Given the description of an element on the screen output the (x, y) to click on. 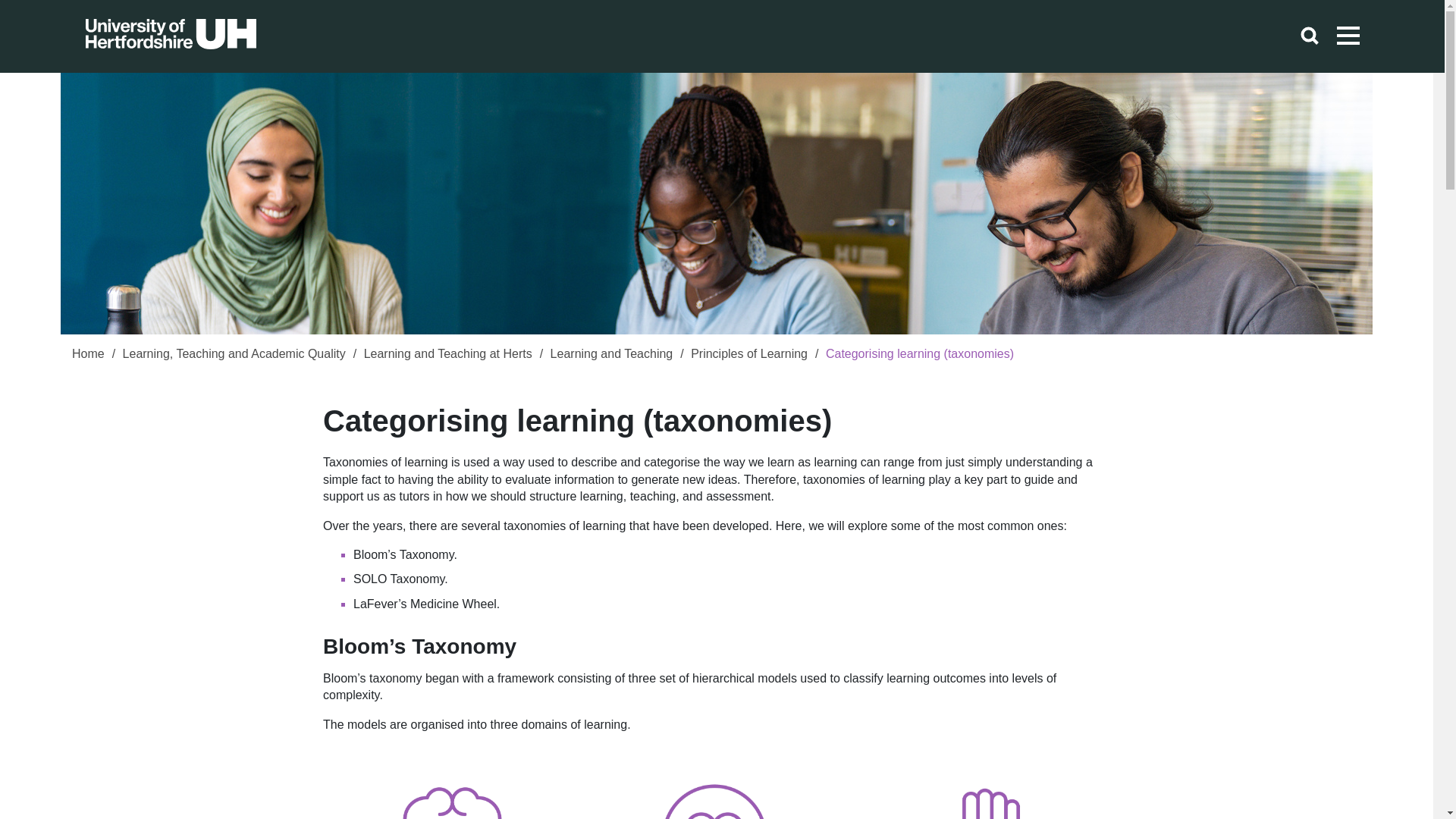
Home (87, 355)
Learning, Teaching and Academic Quality (234, 355)
Principles of Learning (749, 355)
Learning and Teaching (611, 355)
Learning and Teaching at Herts (448, 355)
search (1308, 36)
